Given the description of an element on the screen output the (x, y) to click on. 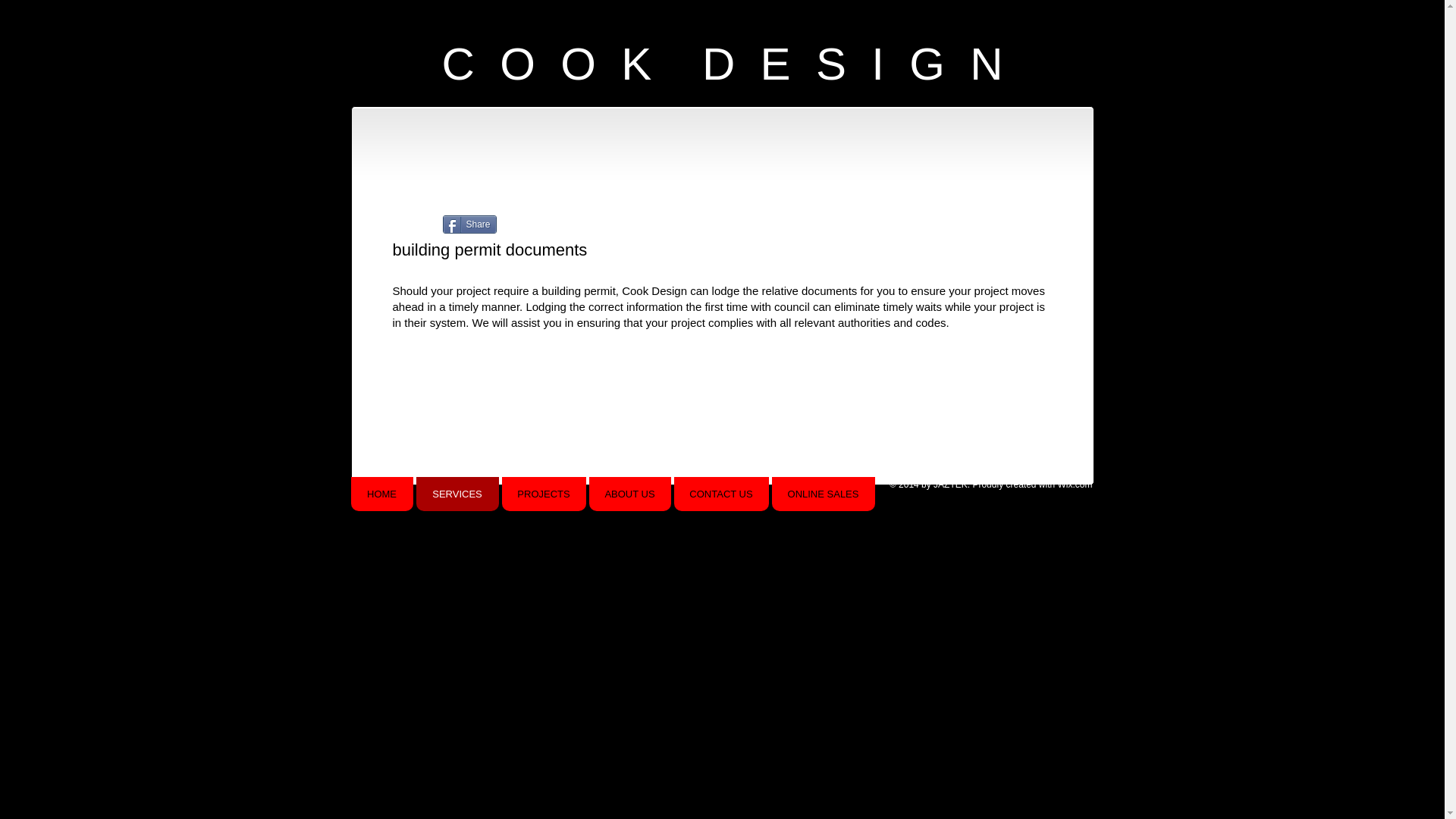
HOME Element type: text (381, 493)
Wix.com Element type: text (1074, 484)
ABOUT US Element type: text (629, 493)
CONTACT US Element type: text (720, 493)
ONLINE SALES Element type: text (823, 493)
Share Element type: text (469, 224)
PROJECTS Element type: text (544, 493)
SERVICES Element type: text (456, 493)
